Given the description of an element on the screen output the (x, y) to click on. 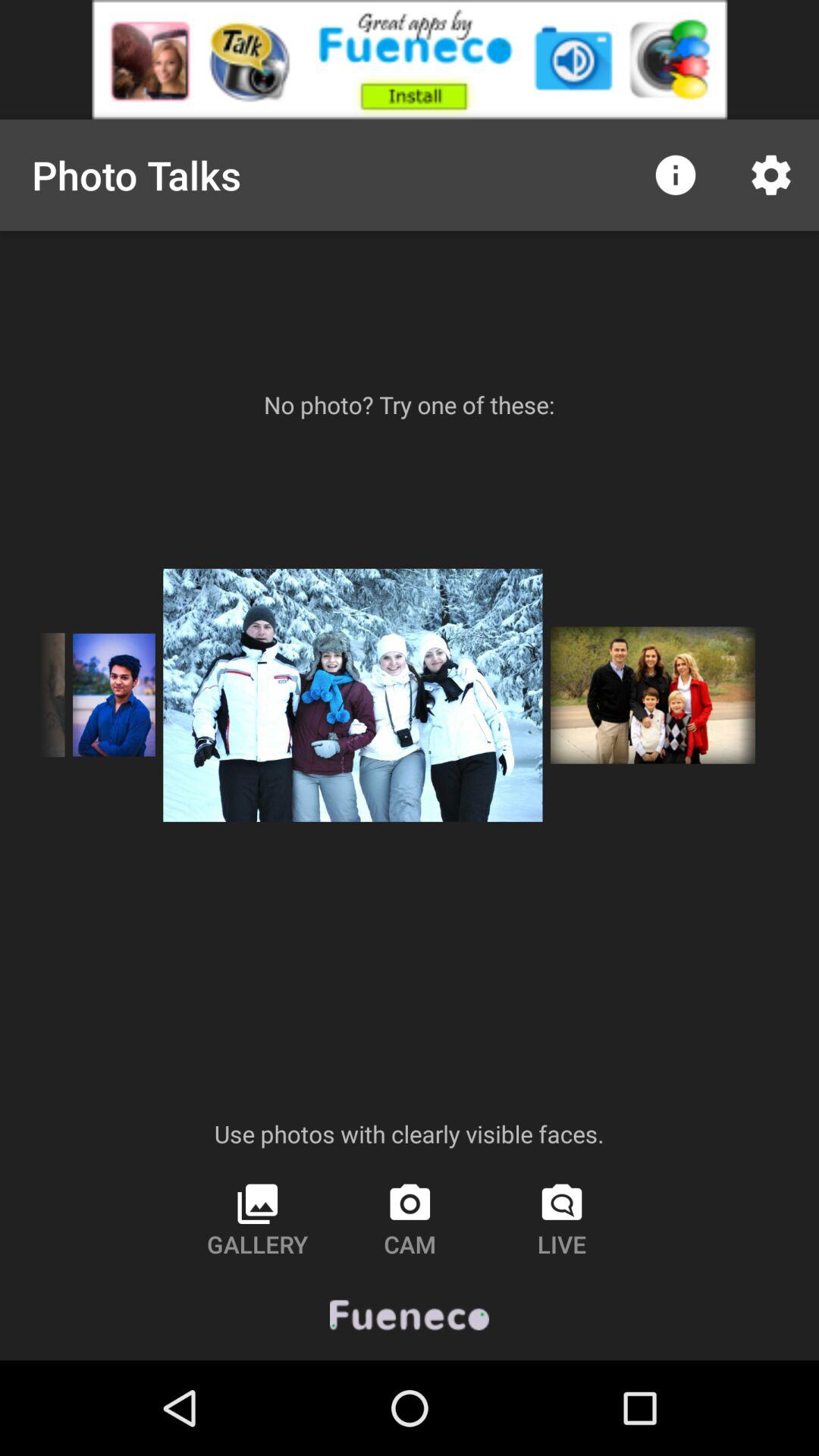
click on the option live (562, 1219)
click on the settings icon (771, 174)
click on the information icon which is left side of settings (675, 174)
click on camera icon (409, 1219)
